Given the description of an element on the screen output the (x, y) to click on. 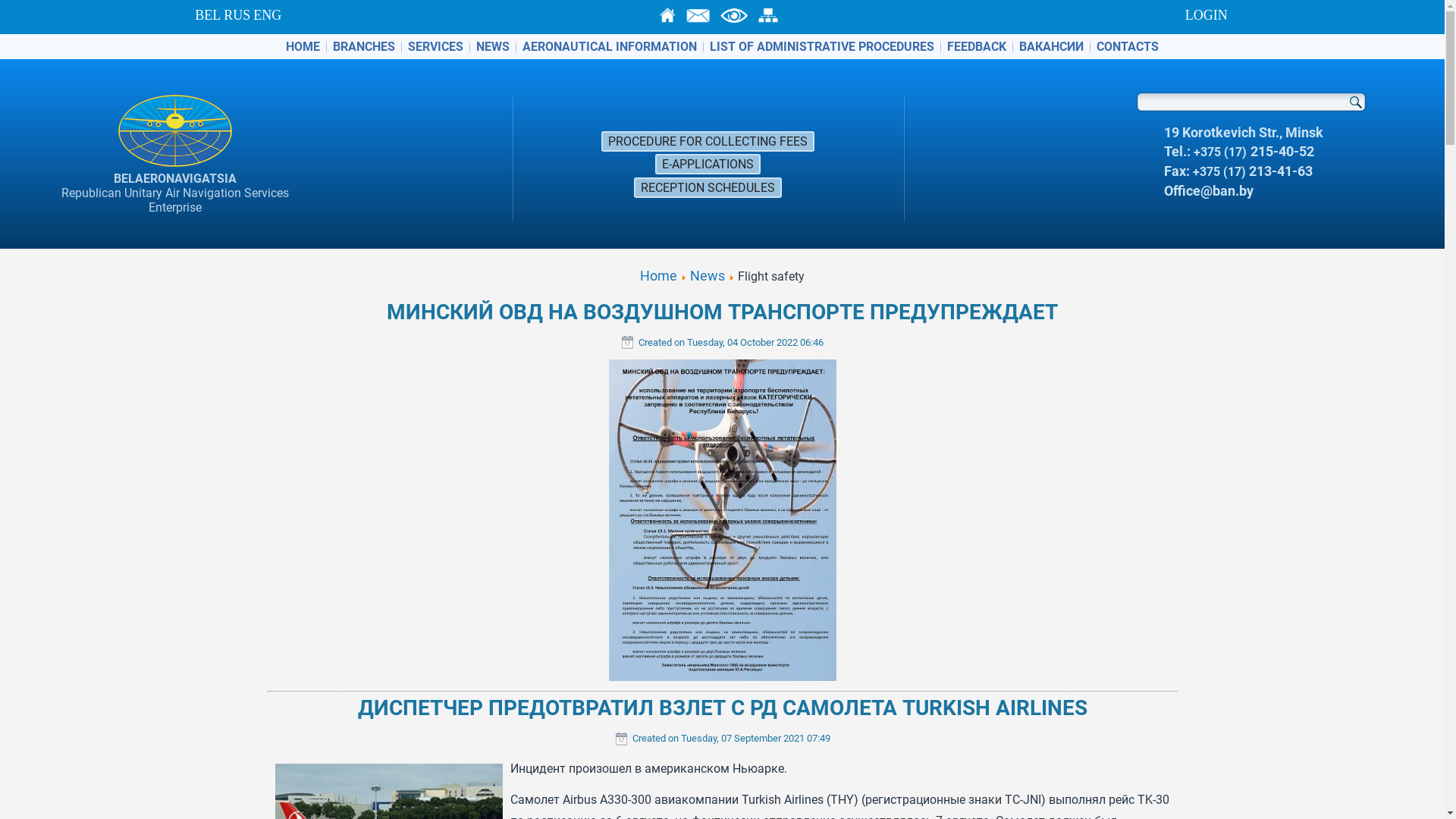
RECEPTION SCHEDULES Element type: text (707, 187)
PROCEDURE FOR COLLECTING FEES Element type: text (707, 141)
LIST OF ADMINISTRATIVE PROCEDURES Element type: text (821, 46)
BRANCHES Element type: text (363, 46)
News Element type: text (707, 275)
FEEDBACK Element type: text (976, 46)
CONTACTS Element type: text (1127, 46)
BEL Element type: text (207, 14)
Home Element type: text (658, 275)
ENG Element type: text (267, 14)
SERVICES Element type: text (435, 46)
RUS Element type: text (236, 14)
HOME Element type: text (302, 46)
LOGIN Element type: text (1206, 14)
E-APPLICATIONS Element type: text (707, 163)
NEWS Element type: text (492, 46)
AERONAUTICAL INFORMATION Element type: text (609, 46)
